Given the description of an element on the screen output the (x, y) to click on. 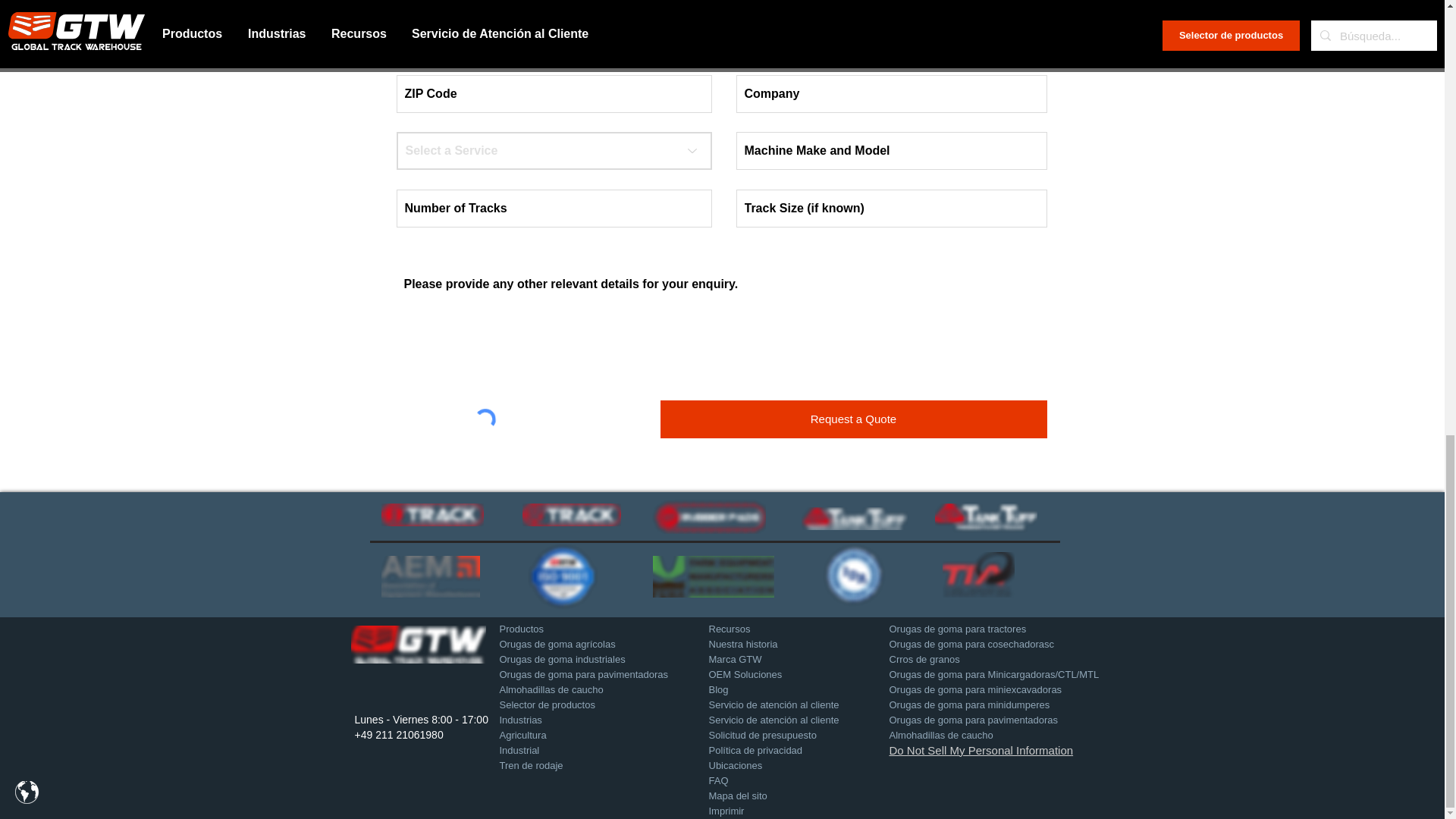
Request a Quote (852, 419)
